Given the description of an element on the screen output the (x, y) to click on. 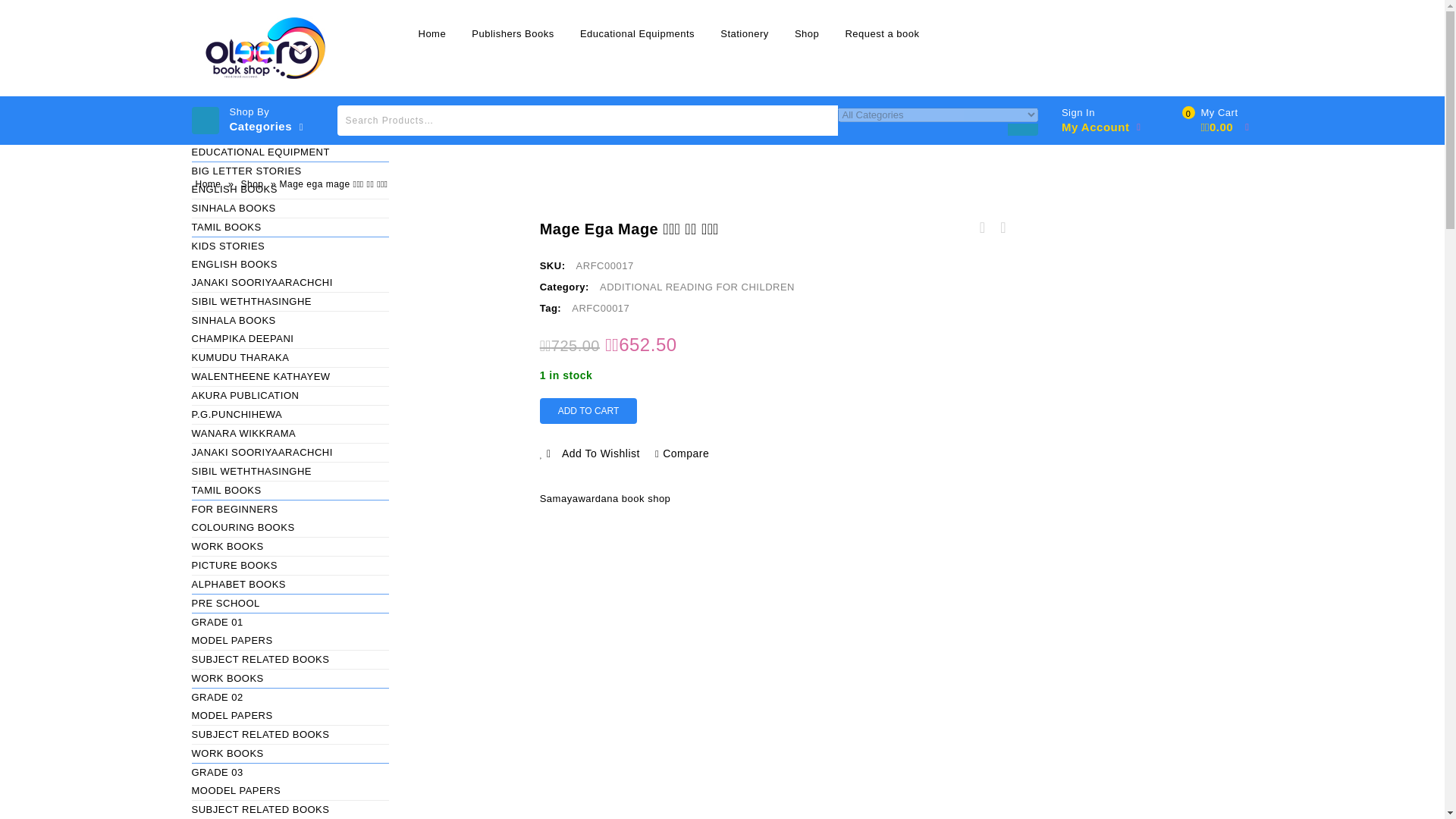
Search (1022, 138)
Shop (806, 33)
View brand (605, 498)
Request a book (881, 33)
Stationery (744, 33)
Home (431, 33)
Educational Equipments (637, 33)
Search for: (587, 120)
Publishers Books (512, 33)
View your shopping cart (1220, 120)
Oleero Books (266, 47)
